Given the description of an element on the screen output the (x, y) to click on. 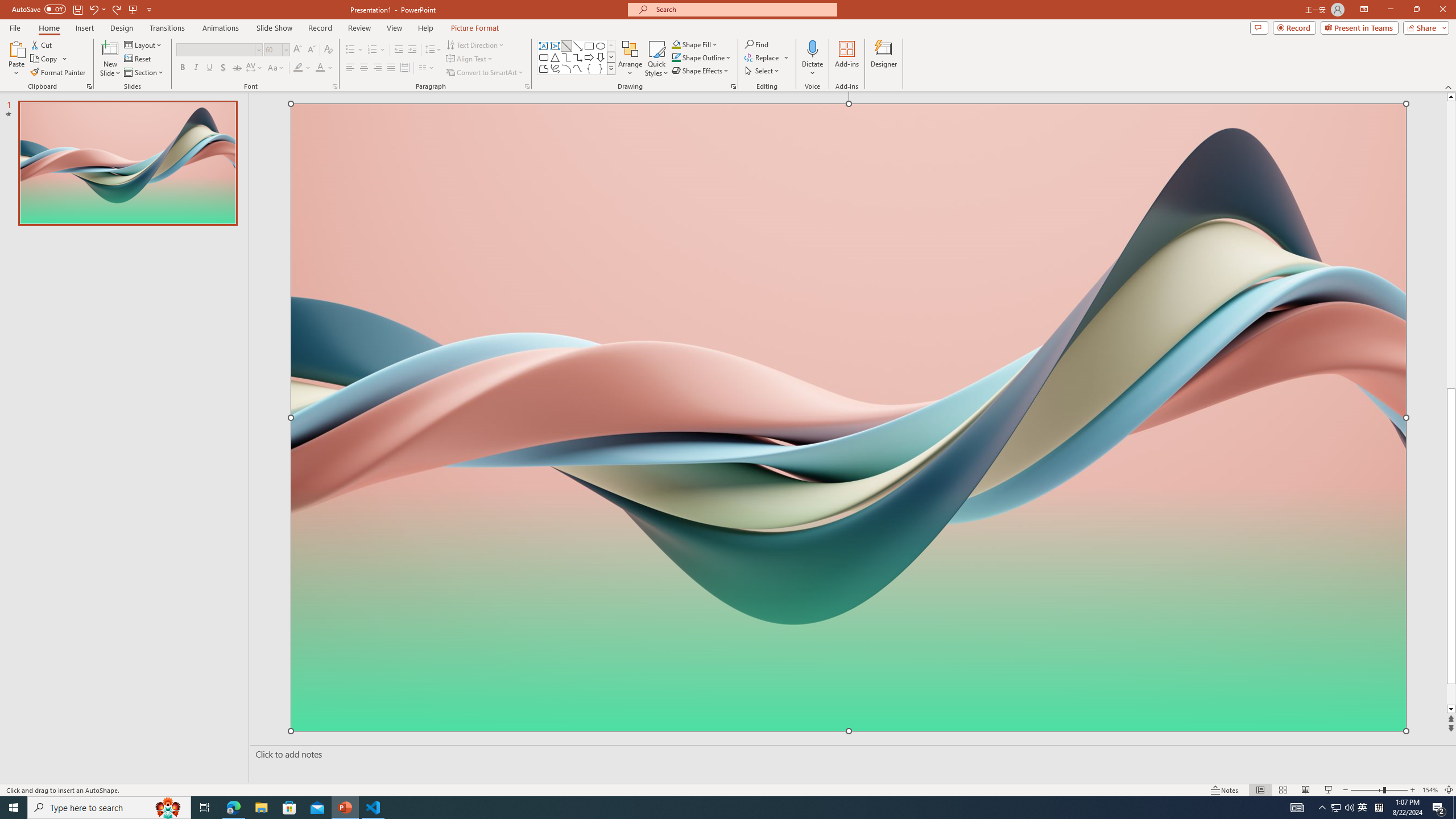
Zoom 154% (1430, 790)
